Given the description of an element on the screen output the (x, y) to click on. 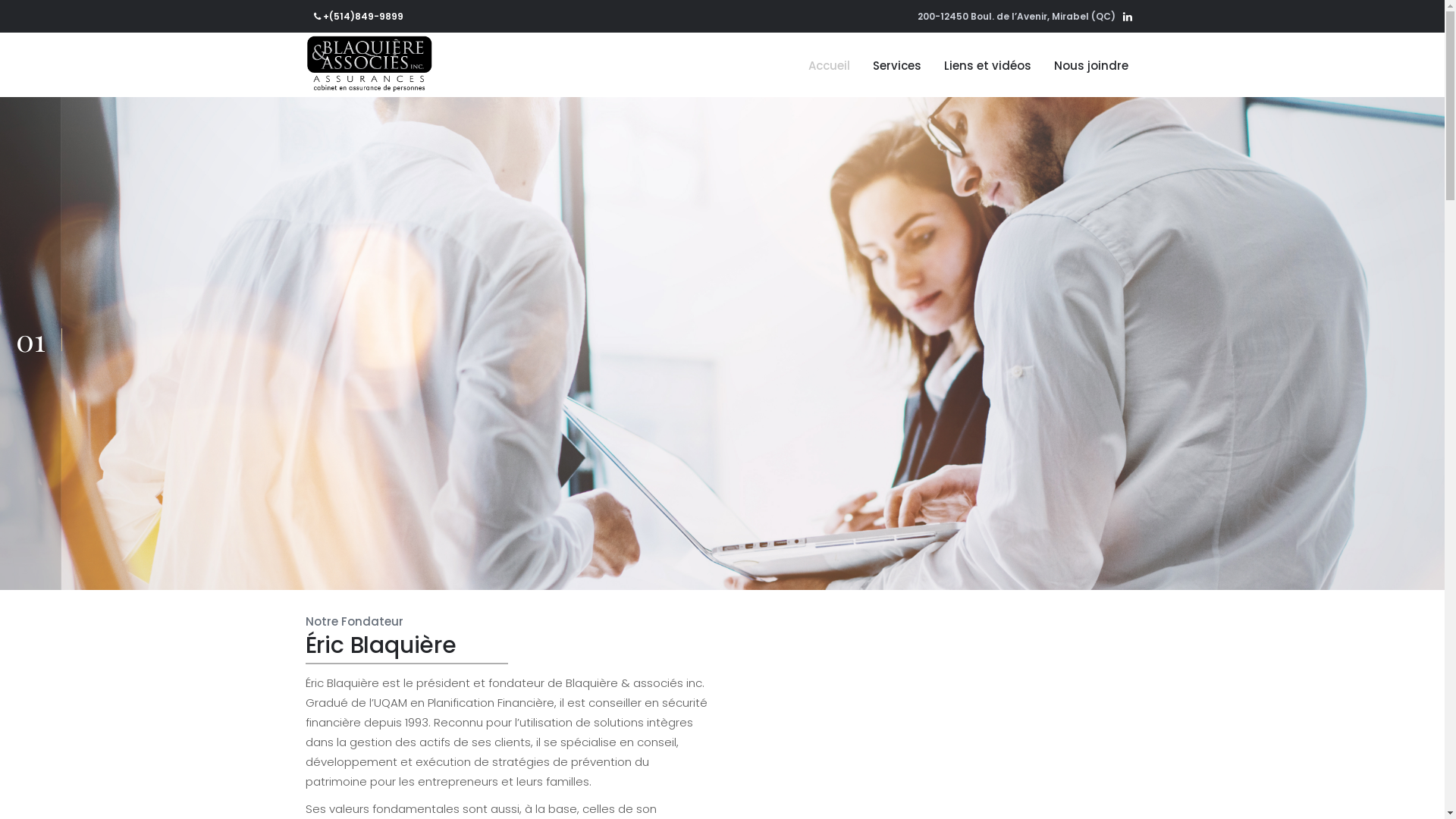
Nous joindre Element type: text (1090, 65)
Search Element type: text (366, 493)
Services Element type: text (896, 65)
Accueil Element type: text (828, 65)
